Given the description of an element on the screen output the (x, y) to click on. 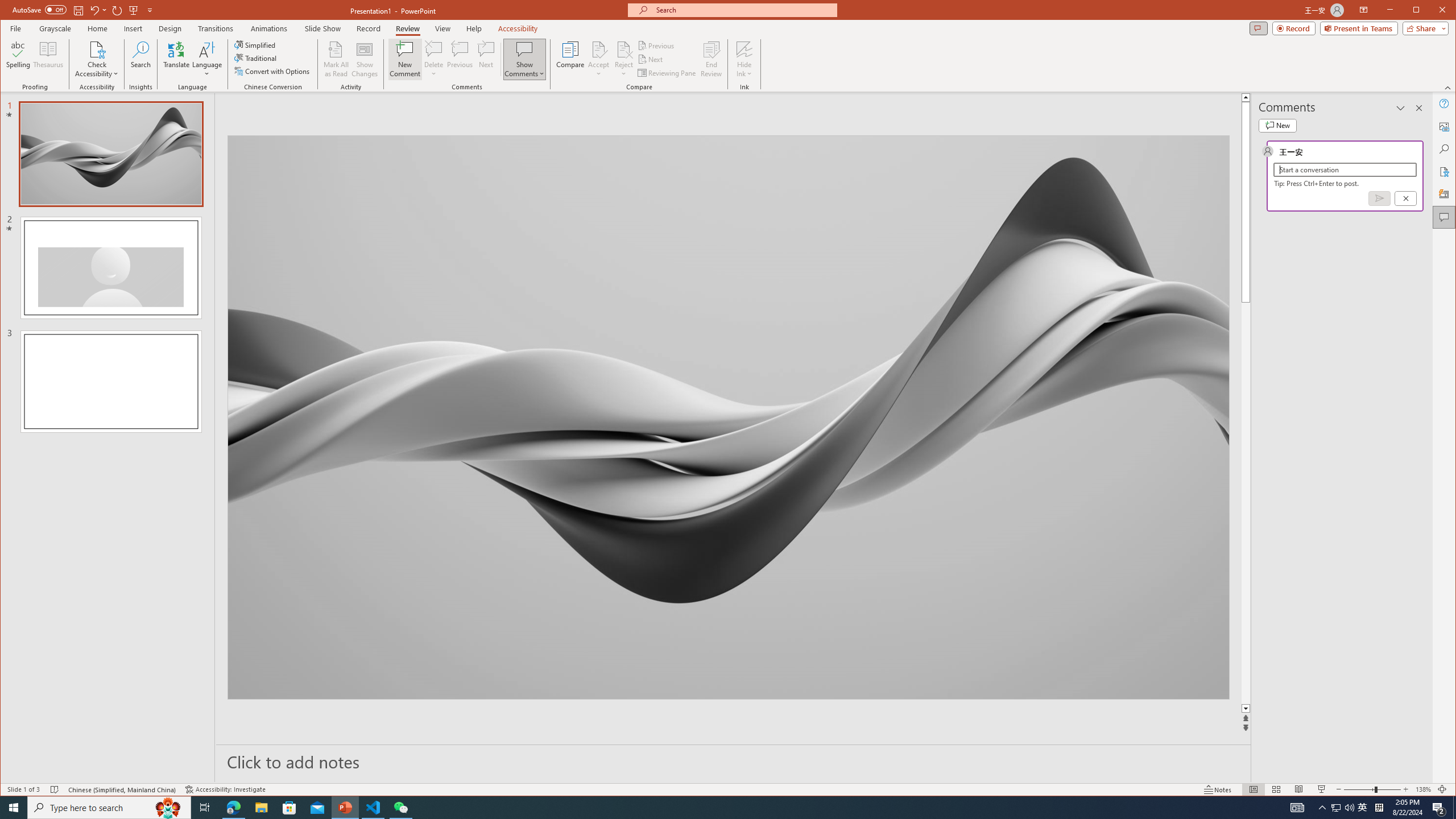
Thesaurus... (48, 59)
Language (207, 59)
Simplified (255, 44)
Show Changes (365, 59)
Maximize (1432, 11)
Translate (175, 59)
